Given the description of an element on the screen output the (x, y) to click on. 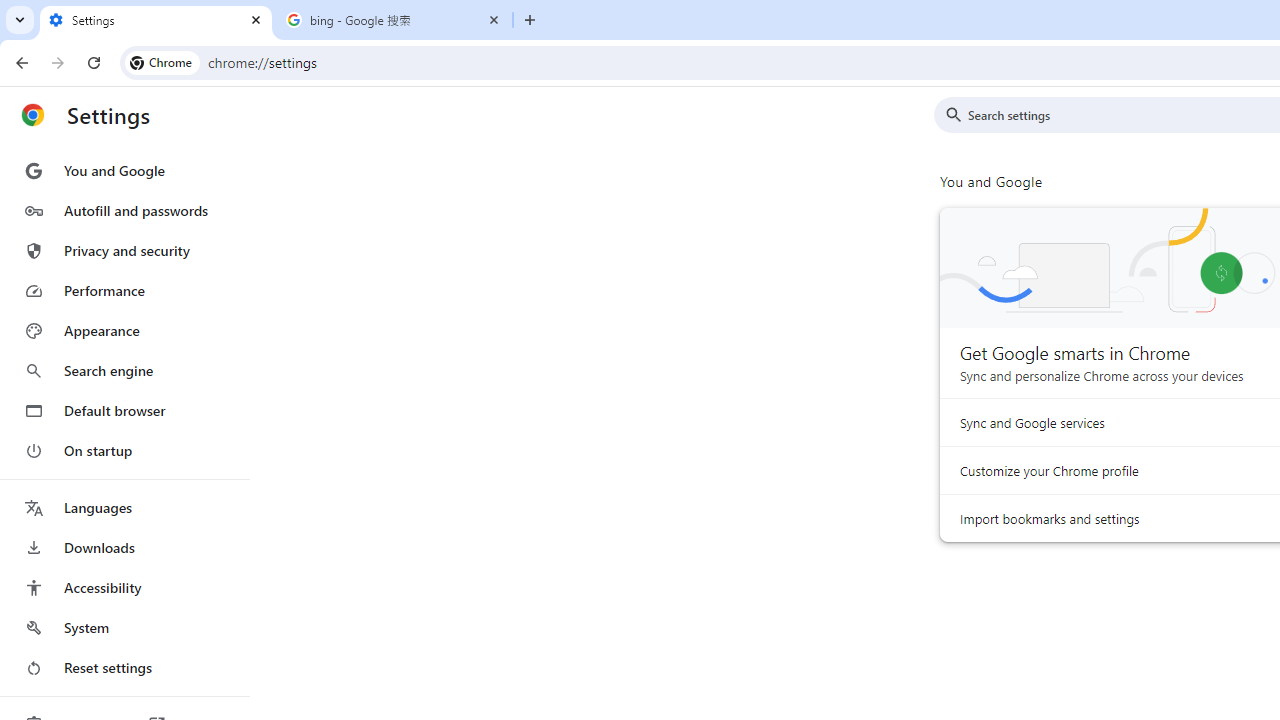
Reset settings (124, 668)
